Given the description of an element on the screen output the (x, y) to click on. 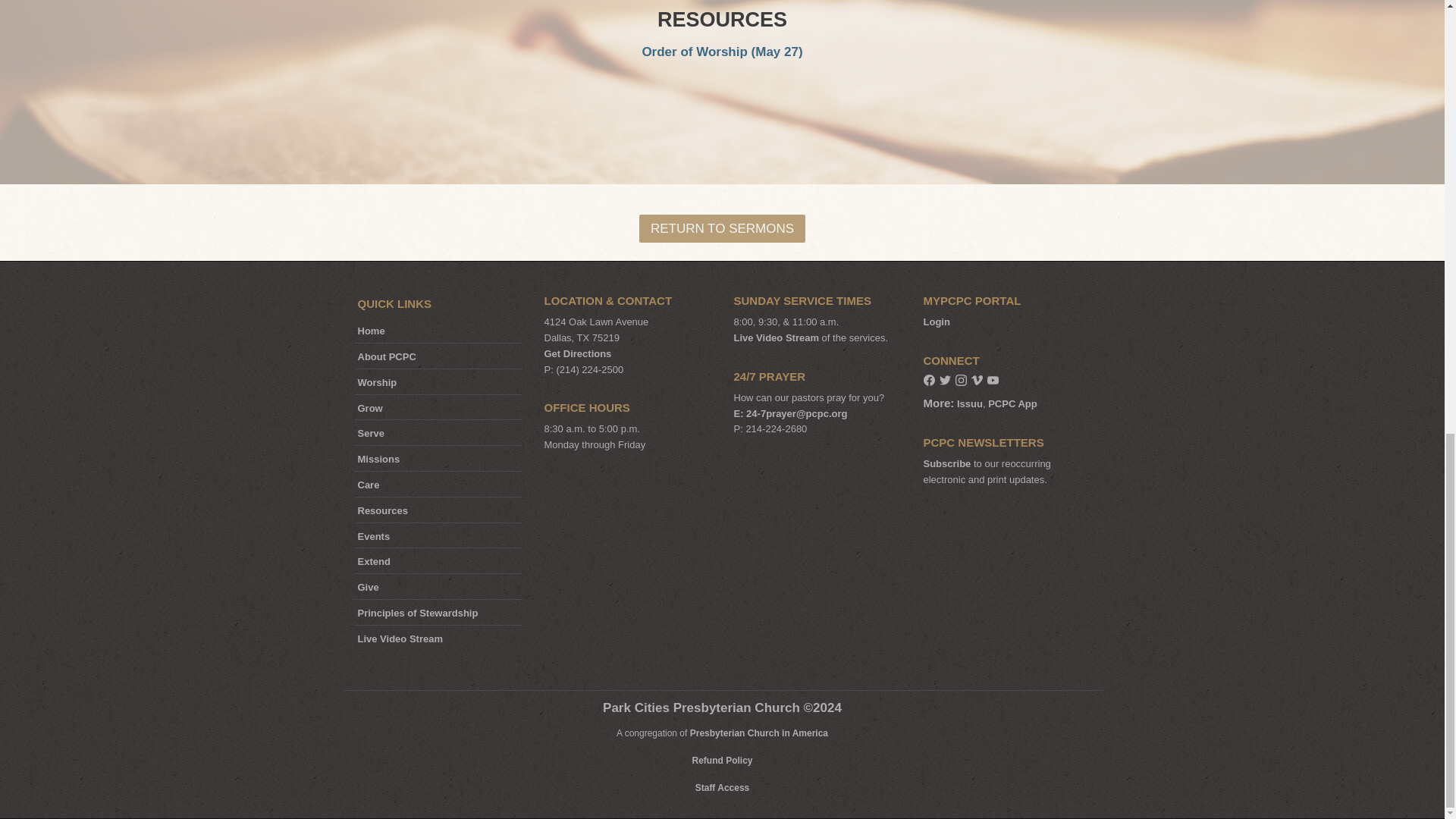
Vimeo (976, 382)
YouTube (992, 382)
Twitter (944, 382)
Instagram (960, 382)
Facebook (928, 382)
